Given the description of an element on the screen output the (x, y) to click on. 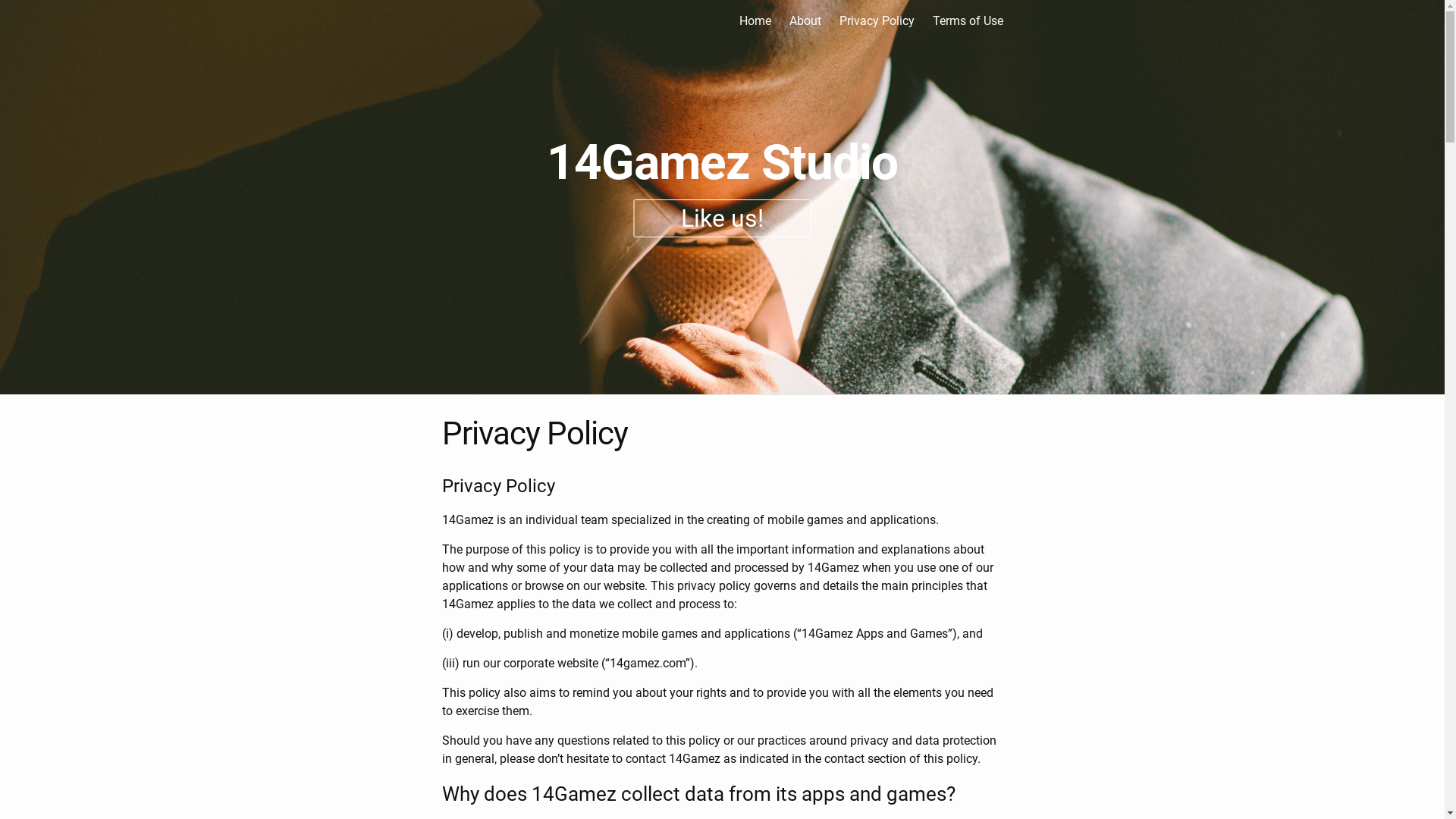
Like us! Element type: text (722, 218)
14Gamez Studio Element type: text (721, 162)
Home Element type: text (754, 20)
About Element type: text (804, 20)
Privacy Policy Element type: text (875, 20)
Terms of Use Element type: text (967, 20)
